Given the description of an element on the screen output the (x, y) to click on. 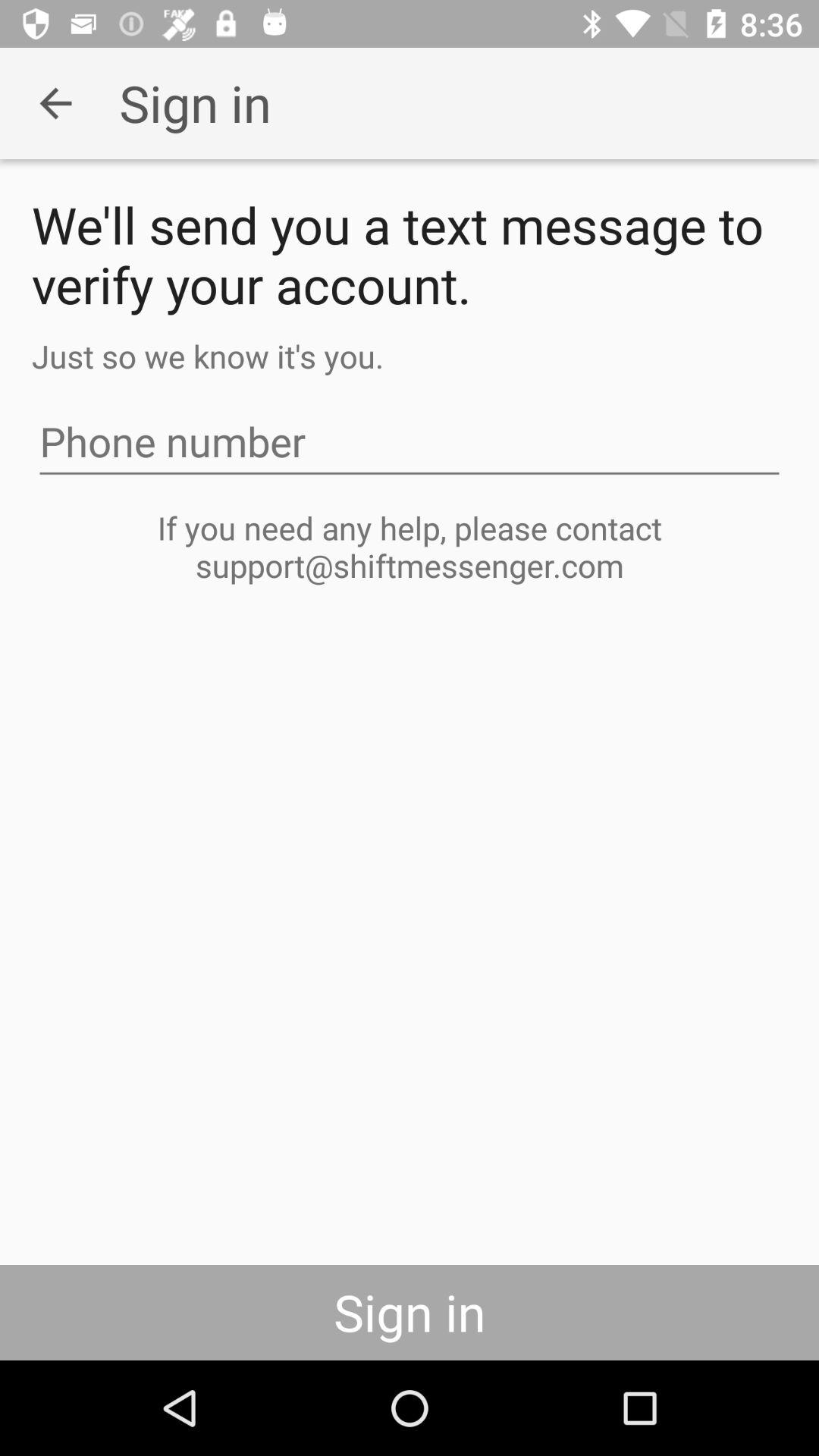
turn off the icon above if you need (409, 441)
